Given the description of an element on the screen output the (x, y) to click on. 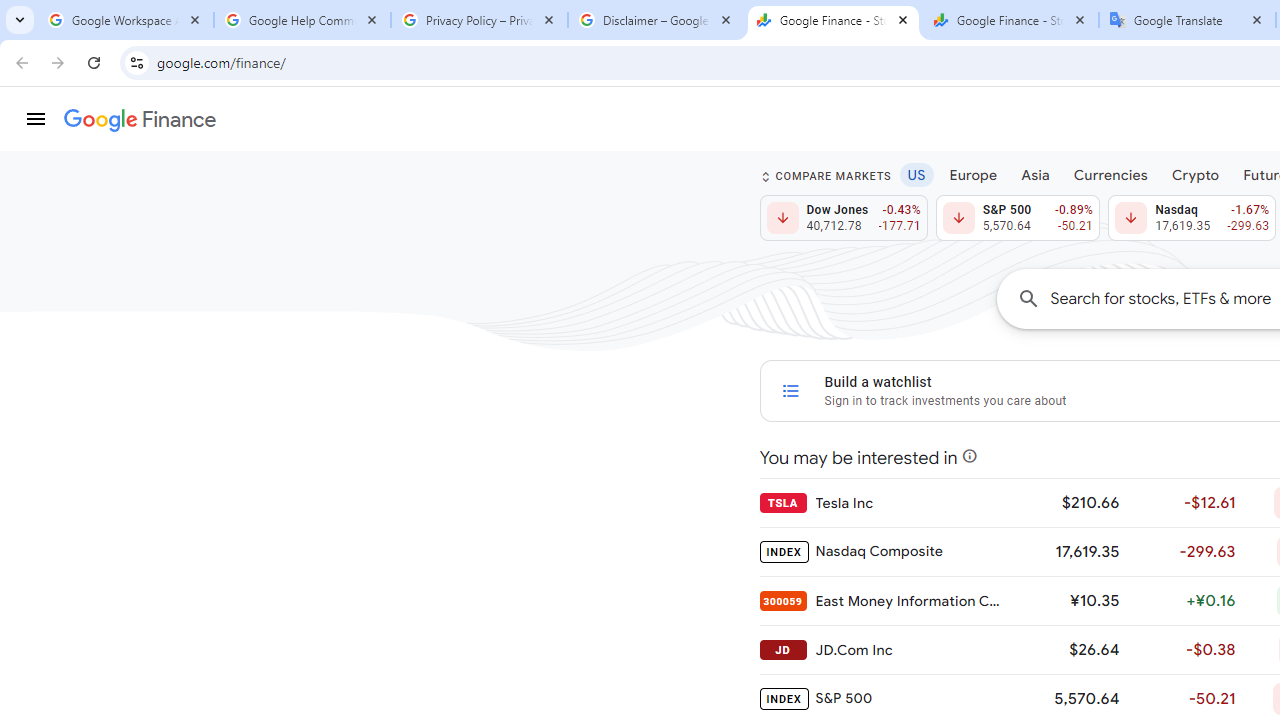
Documents (866, 224)
Browse (507, 564)
Back (104, 94)
Shared with Me (507, 255)
OneDrive (507, 323)
